Given the description of an element on the screen output the (x, y) to click on. 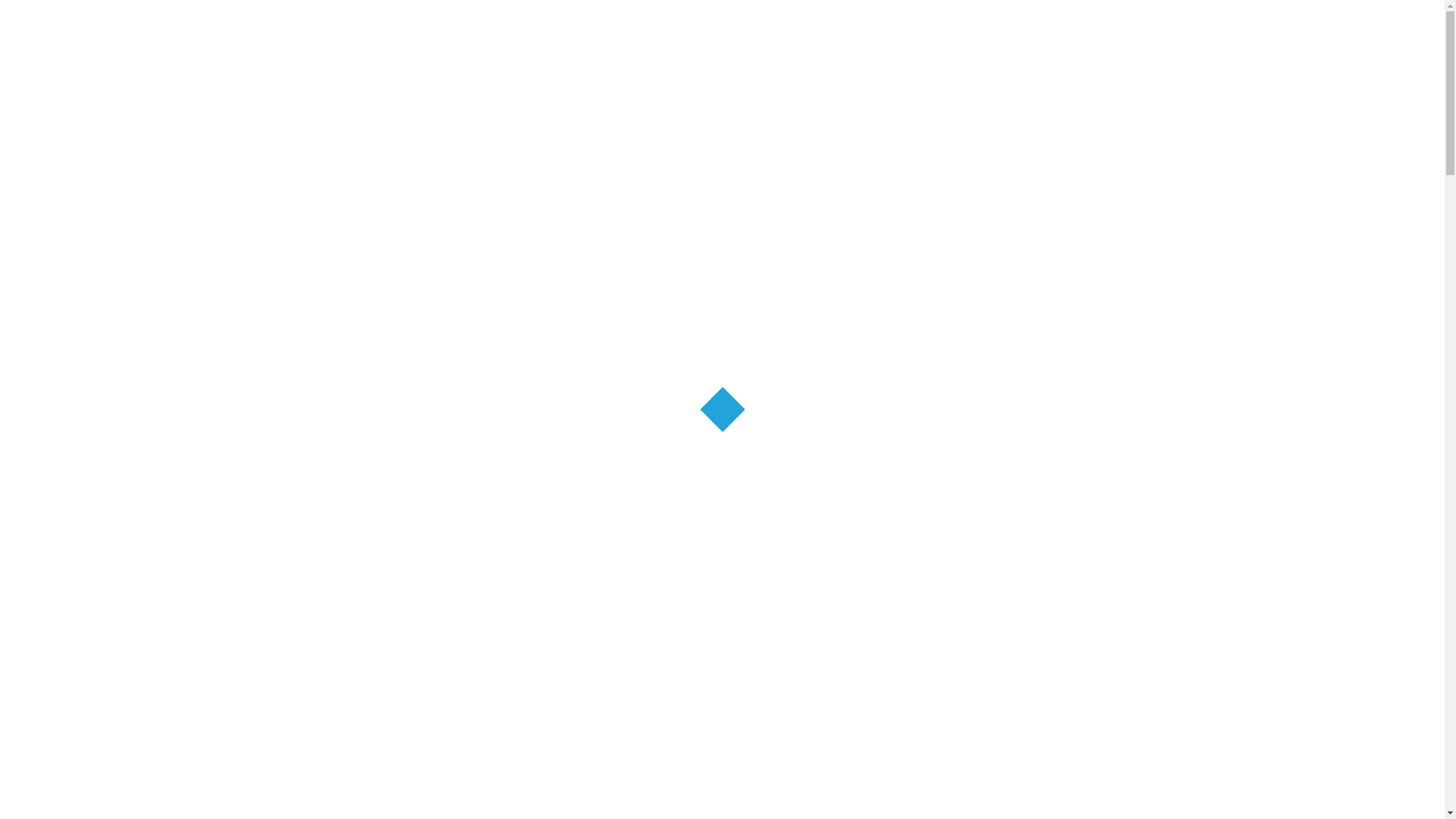
Calculators Element type: text (722, 121)
Partners Element type: text (482, 121)
FAQs Element type: text (797, 121)
Search Element type: text (1117, 47)
March 2023 Element type: text (995, 795)
Fixed vs Variable Home Loan Element type: text (1022, 435)
Contact Us Element type: text (970, 121)
Services Element type: text (401, 122)
September 2023 Element type: text (1005, 755)
Why Use a Mortgage Broker? Element type: text (1023, 625)
Financial Wellbeing Element type: text (1001, 475)
June 2023 Element type: text (992, 775)
Testimonials Element type: text (875, 121)
Are all pre-approved home loans created equal? Element type: text (1032, 522)
Home Element type: text (322, 274)
Home Element type: text (325, 121)
Our Team Element type: text (629, 122)
Search Element type: text (1117, 345)
News Element type: text (551, 121)
First Home Buyer Incentives Element type: hover (616, 528)
What Types of Debt Can Impact You Getting a Home Loan? Element type: text (1038, 577)
